Given the description of an element on the screen output the (x, y) to click on. 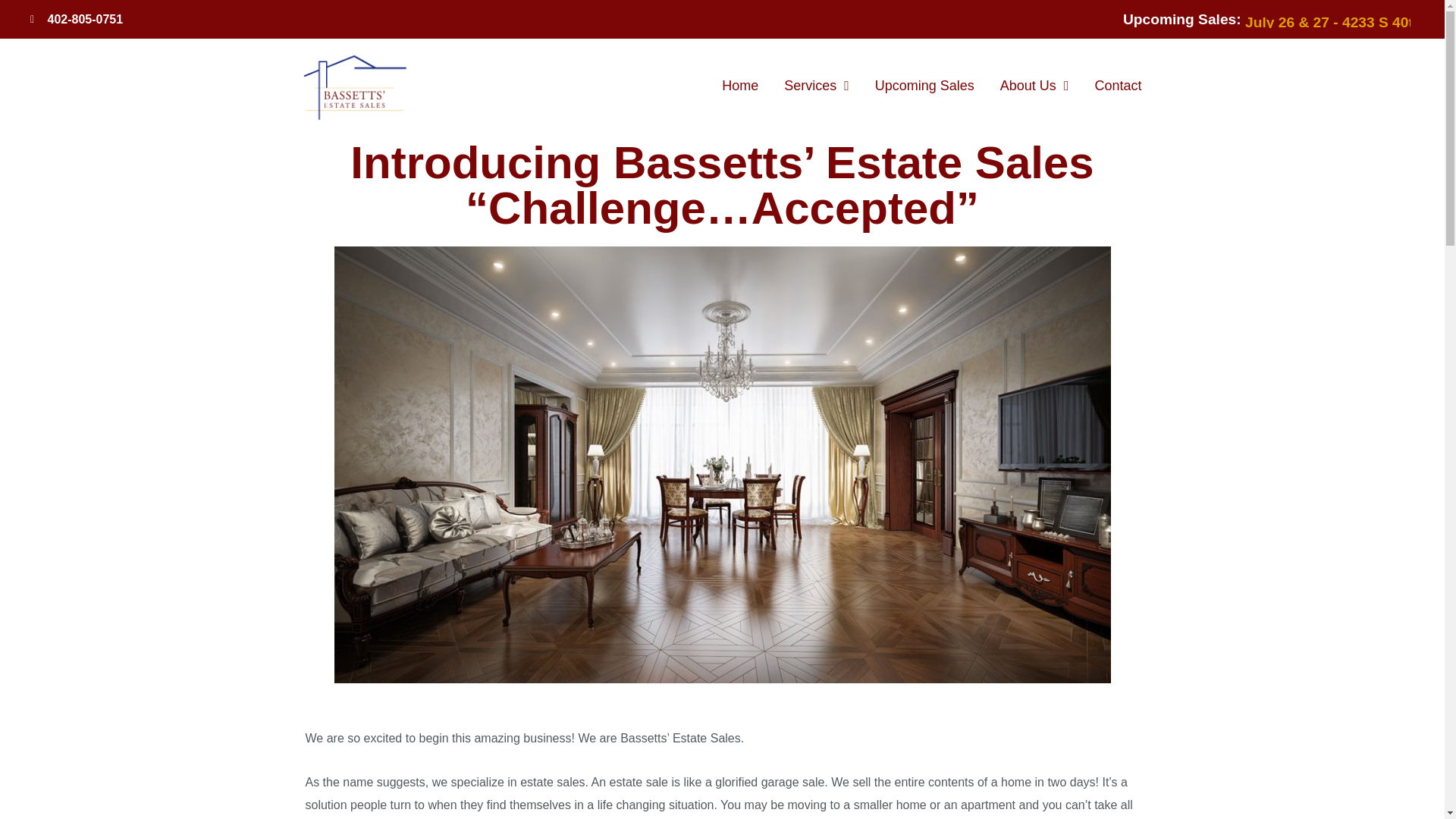
Services (816, 85)
Contact (1117, 85)
About Us (1034, 85)
Home (740, 85)
Upcoming Sales (924, 85)
